Given the description of an element on the screen output the (x, y) to click on. 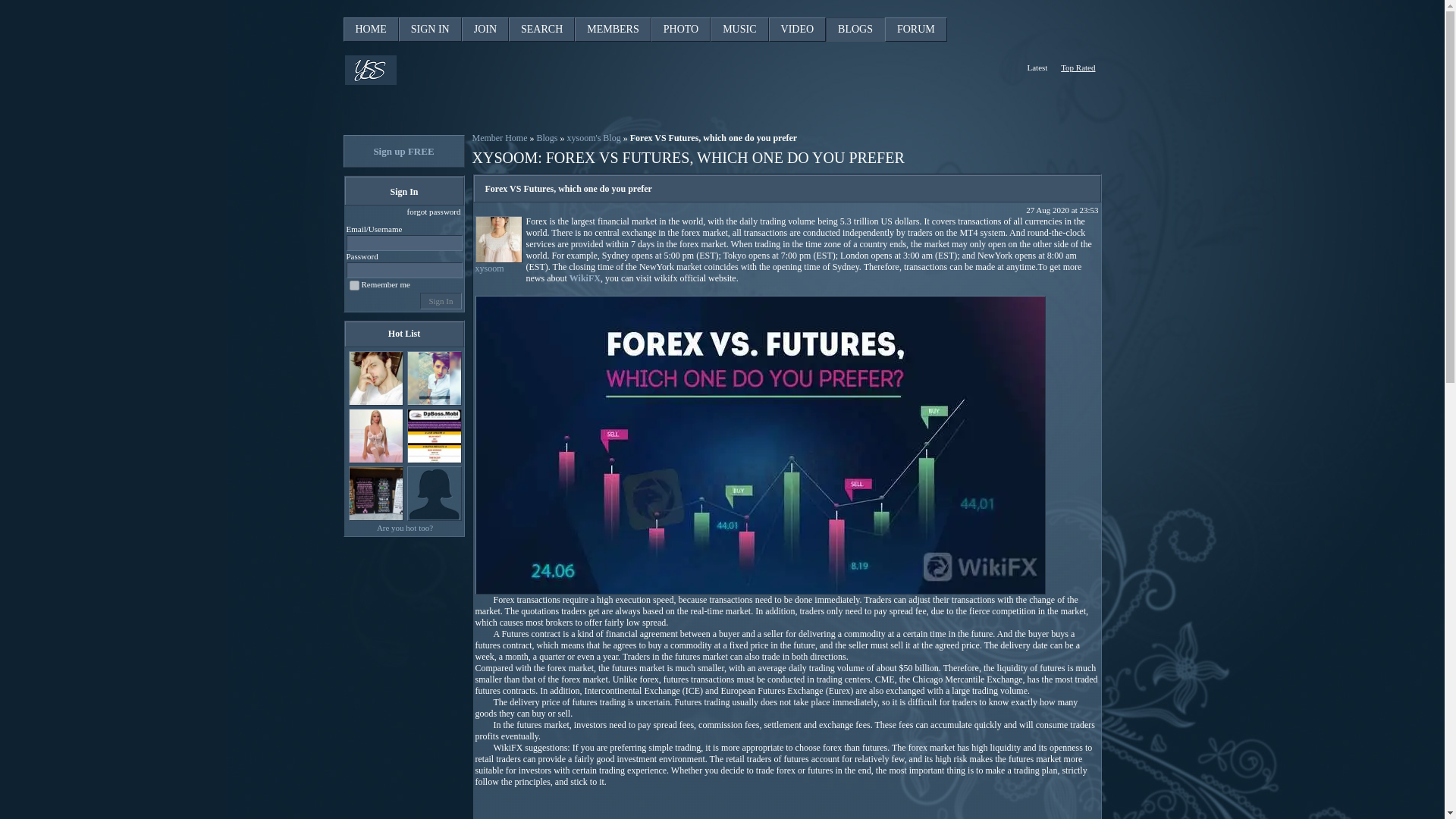
xysoom (497, 239)
Blogs (546, 137)
1 (353, 285)
MEMBERS (612, 29)
forgot password (434, 211)
SIGN IN (429, 29)
BLOGS (855, 29)
WikiFX (584, 277)
xysoom (497, 264)
Pinkunicorn (376, 493)
Sign up FREE (402, 151)
Are you hot too? (404, 527)
MUSIC (739, 29)
Sign In (440, 300)
lolmivitro (433, 435)
